Given the description of an element on the screen output the (x, y) to click on. 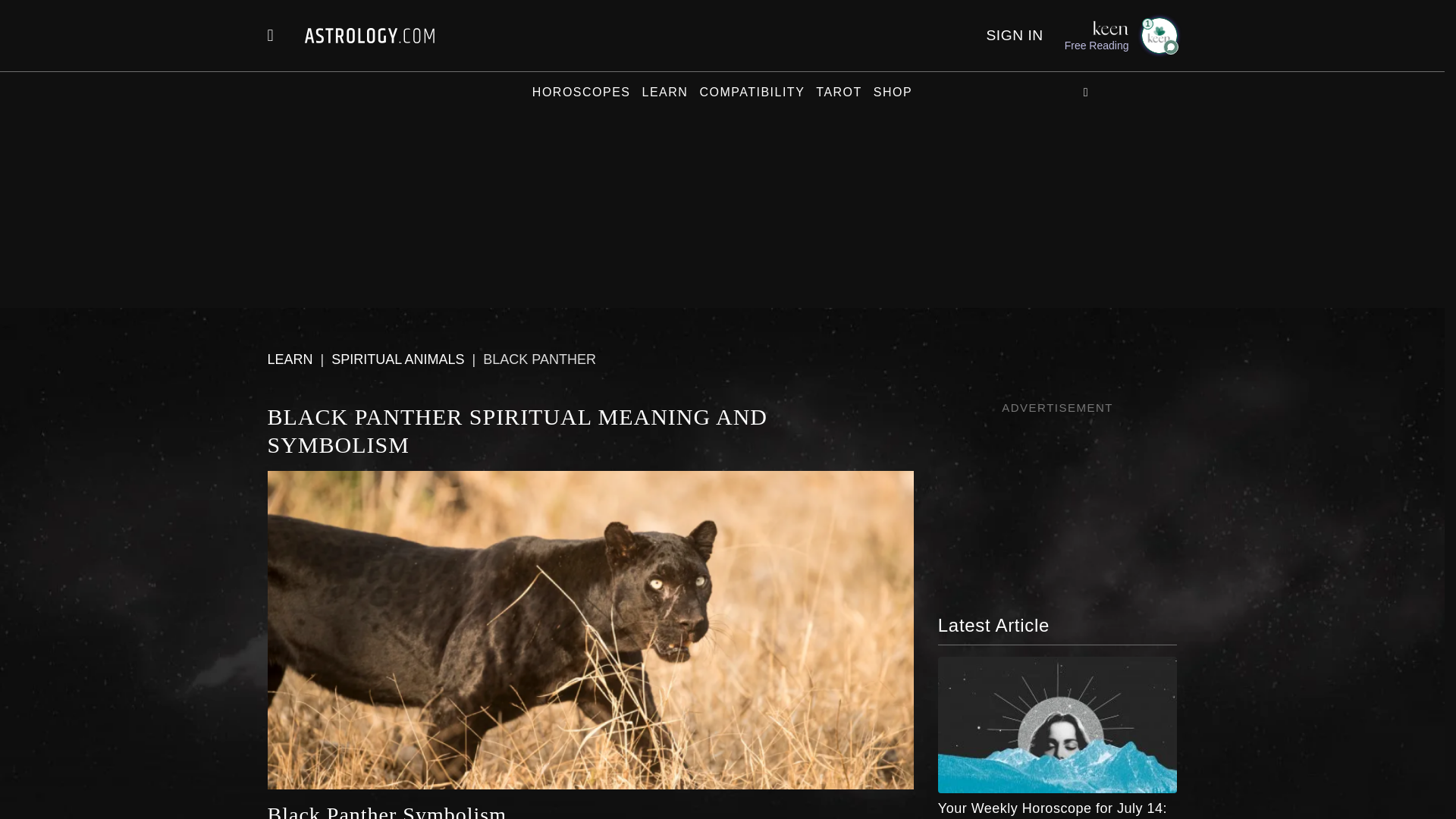
SIGN IN (1013, 35)
1 (1158, 35)
